Given the description of an element on the screen output the (x, y) to click on. 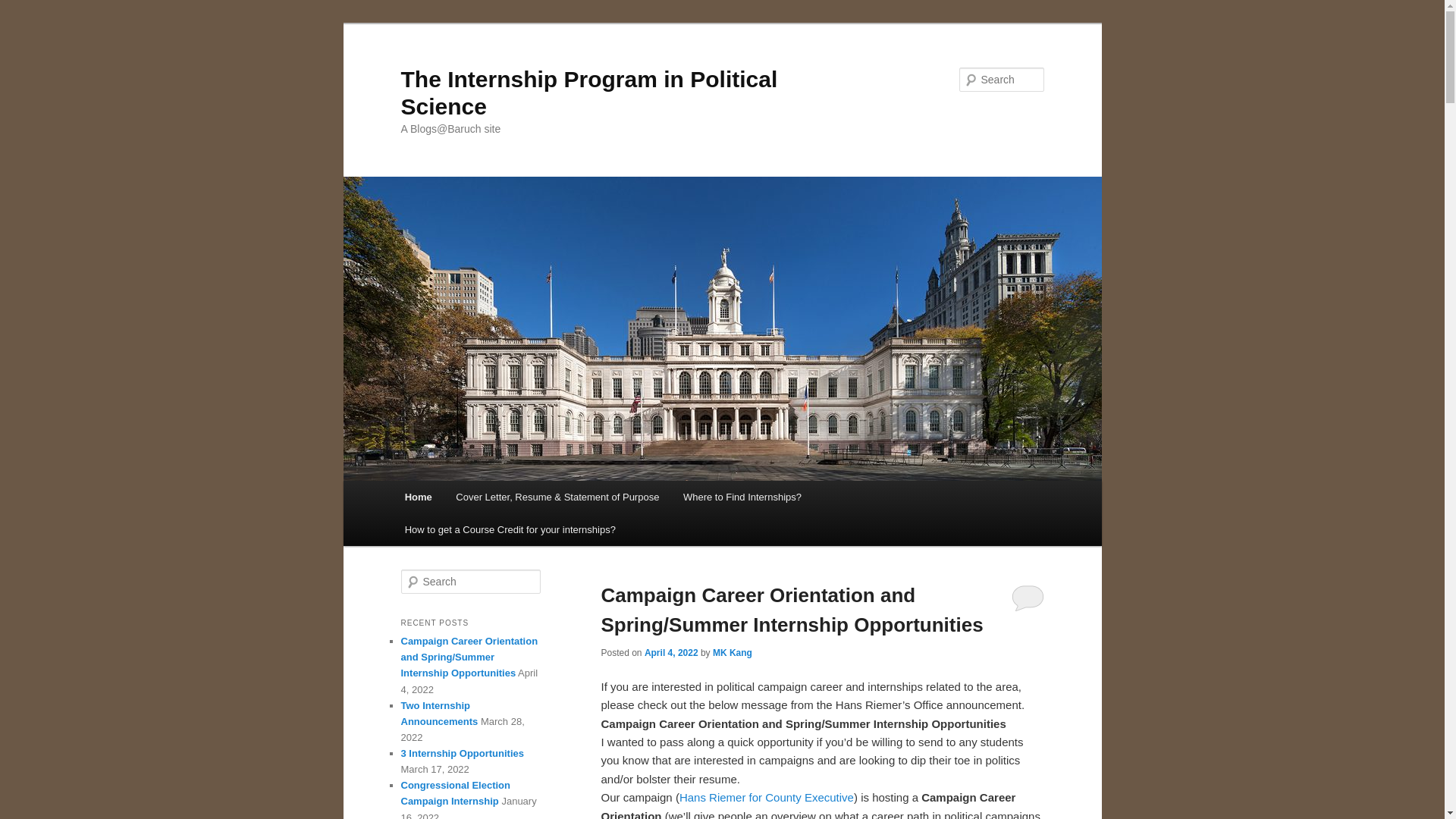
Where to Find Internships? (742, 496)
Home (418, 496)
MK Kang (732, 652)
Hans Riemer for County Executive (766, 797)
The Internship Program in Political Science (588, 92)
How to get a Course Credit for your internships? (510, 529)
April 4, 2022 (671, 652)
Search (24, 8)
